Given the description of an element on the screen output the (x, y) to click on. 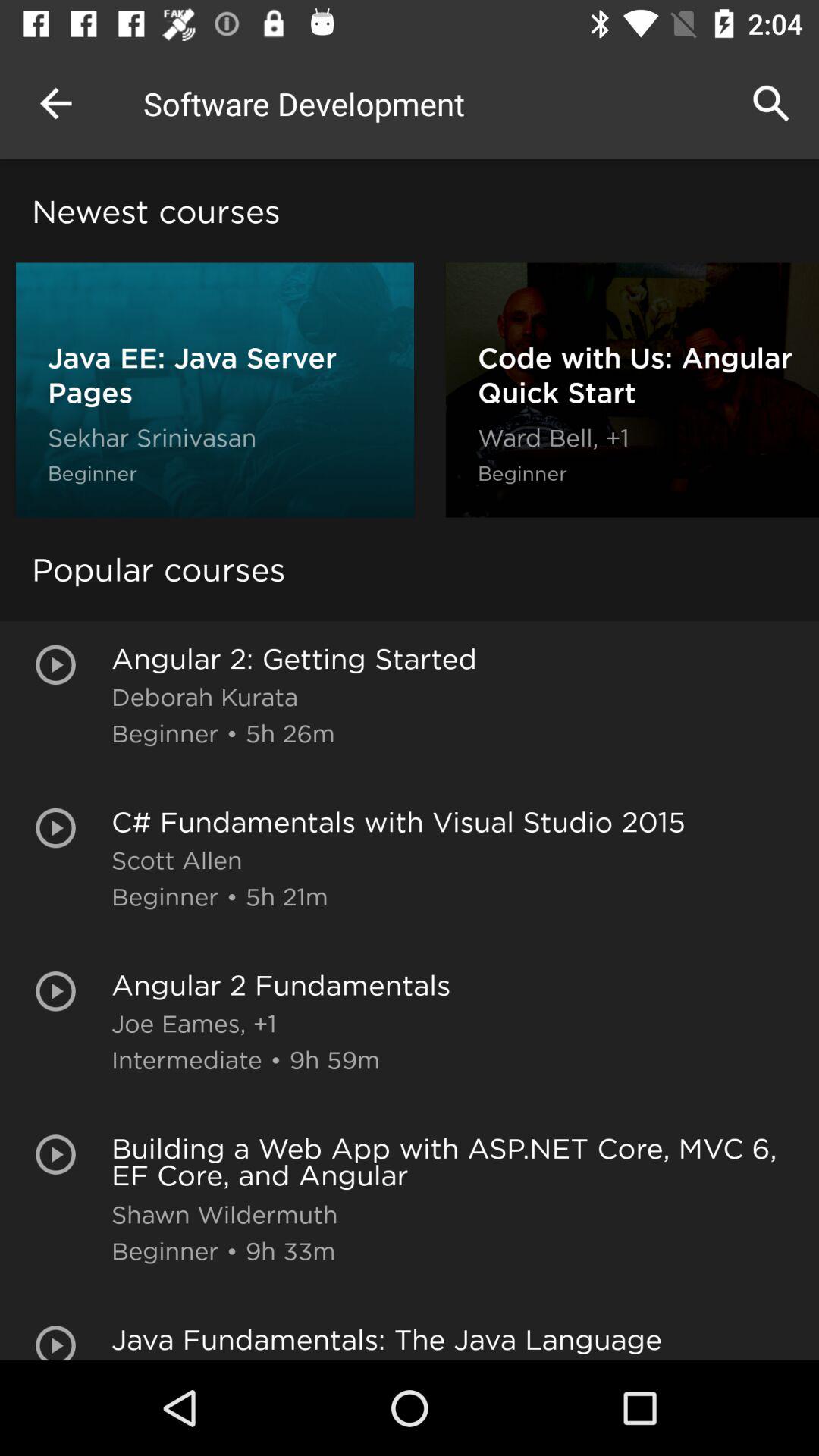
turn off the item next to the software development (55, 103)
